Given the description of an element on the screen output the (x, y) to click on. 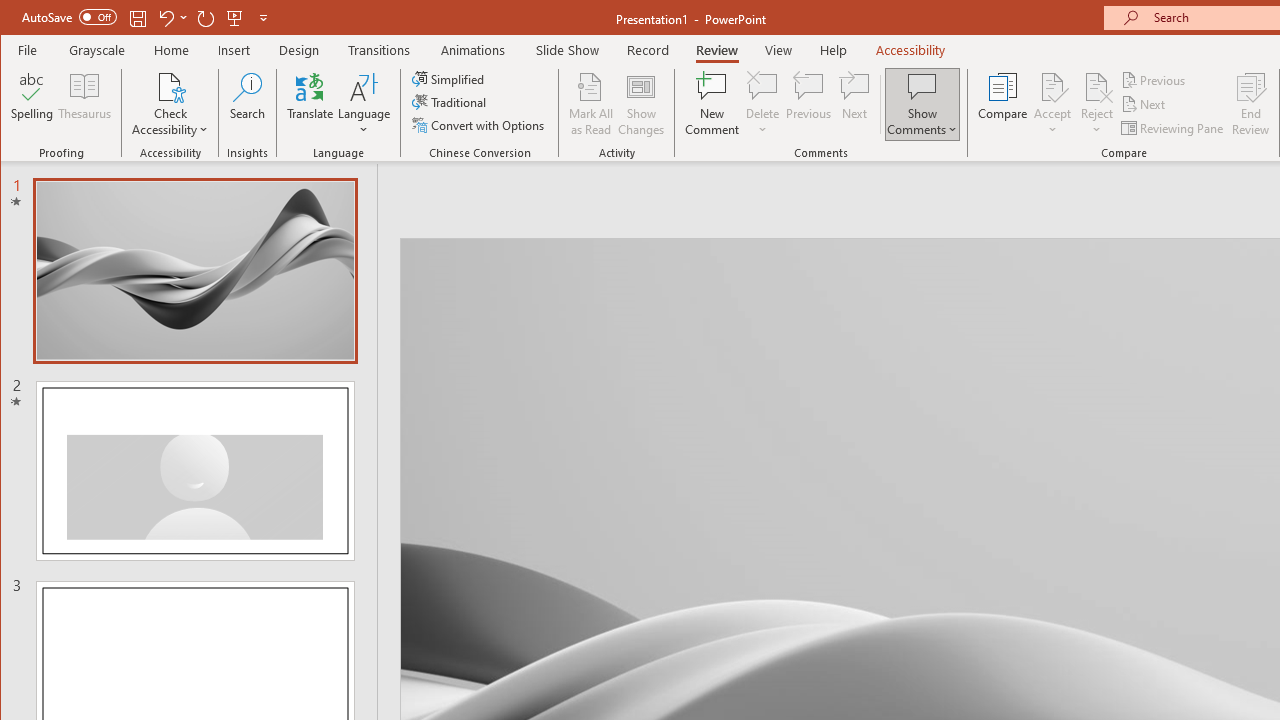
Thesaurus... (84, 104)
Previous (1154, 80)
Reject Change (1096, 86)
New Comment (712, 104)
End Review (1251, 104)
